Given the description of an element on the screen output the (x, y) to click on. 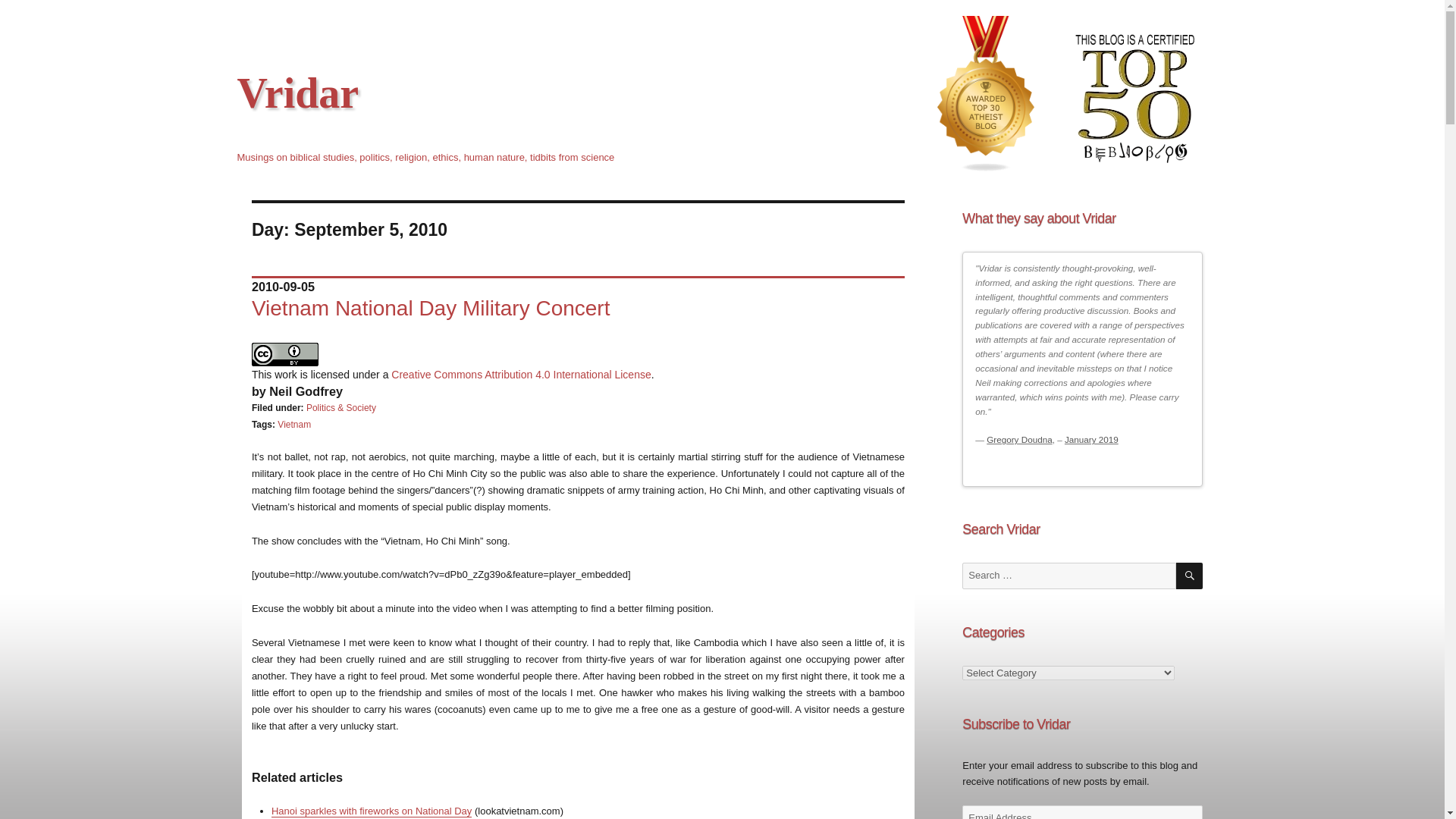
Gregory Doudna (1019, 439)
January 2019 (1091, 439)
Hanoi sparkles with fireworks on National Day (370, 810)
Vietnam National Day Military Concert (430, 308)
Creative Commons Attribution 4.0 International License (520, 374)
Vridar (296, 93)
Vietnam (294, 424)
